Given the description of an element on the screen output the (x, y) to click on. 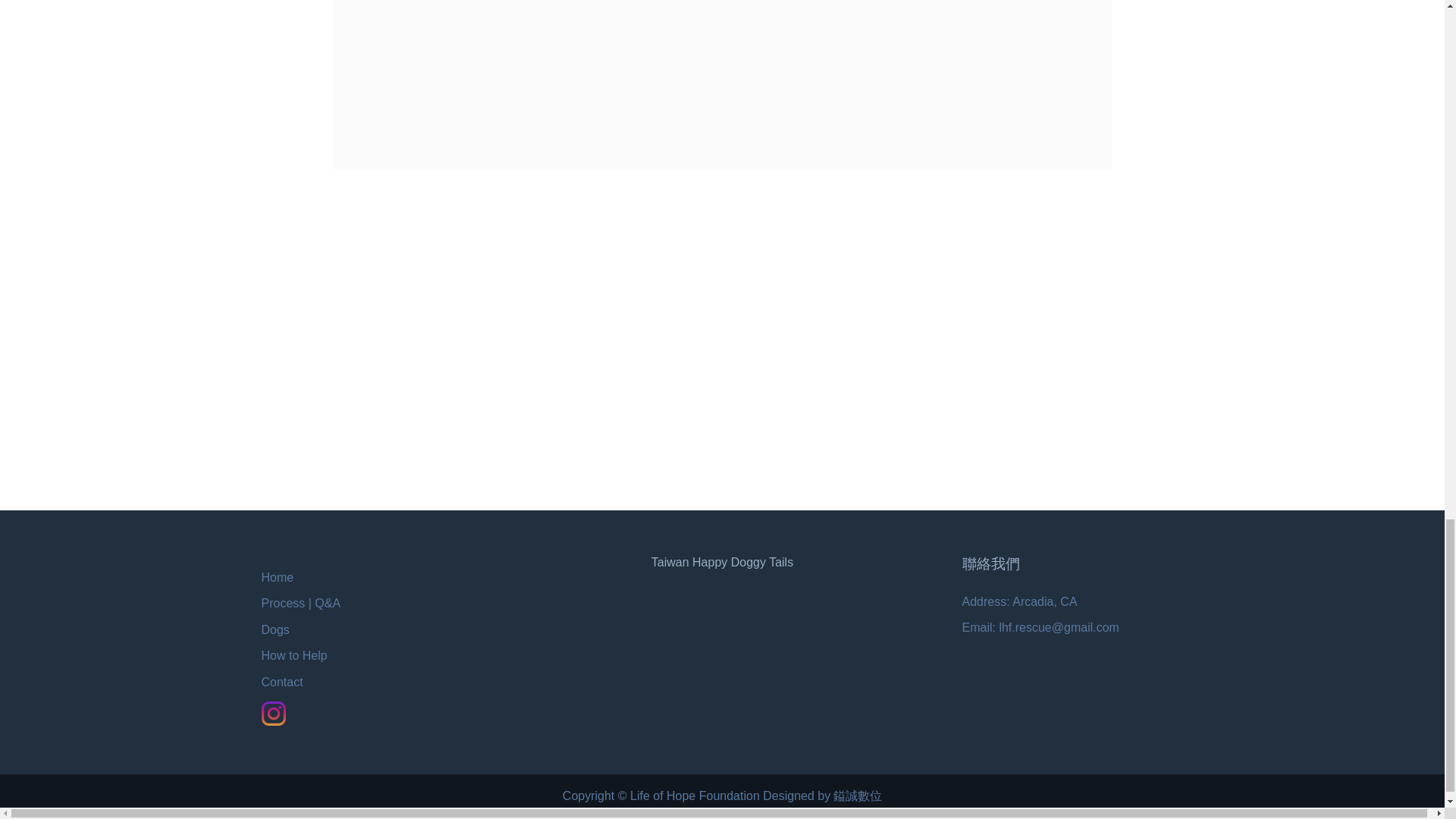
Contact (281, 681)
Taiwan Happy Doggy Tails (721, 562)
Dogs (274, 629)
Home (277, 576)
How to Help (293, 655)
